Given the description of an element on the screen output the (x, y) to click on. 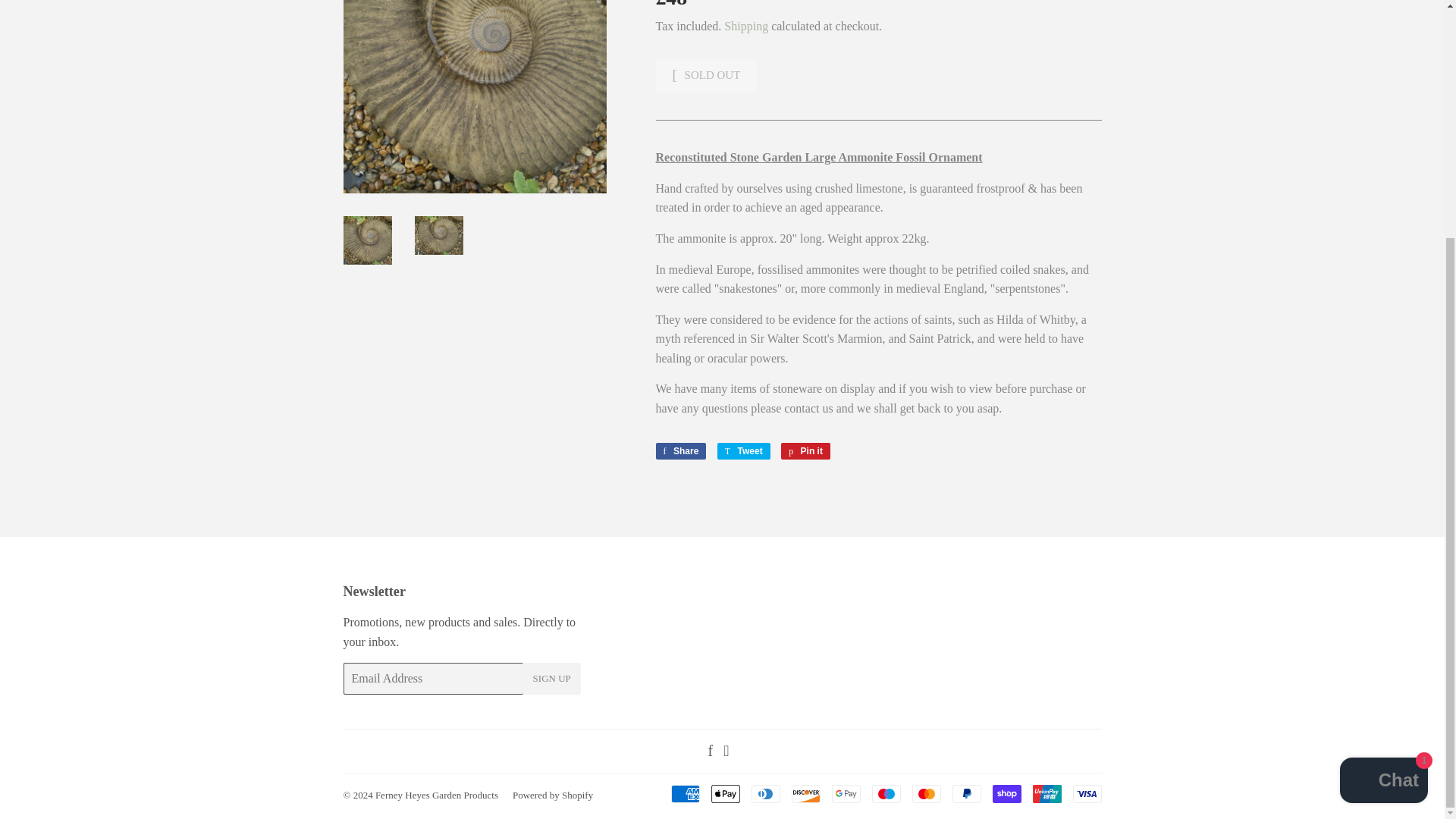
Maestro (743, 451)
Shipping (886, 793)
SIGN UP (745, 25)
Share on Facebook (551, 678)
Apple Pay (680, 451)
American Express (725, 793)
Powered by Shopify (683, 793)
Visa (552, 794)
Ferney Heyes Garden Products (1085, 793)
Google Pay (436, 794)
Tweet on Twitter (680, 451)
Shopify online store chat (845, 793)
Discover (743, 451)
